Given the description of an element on the screen output the (x, y) to click on. 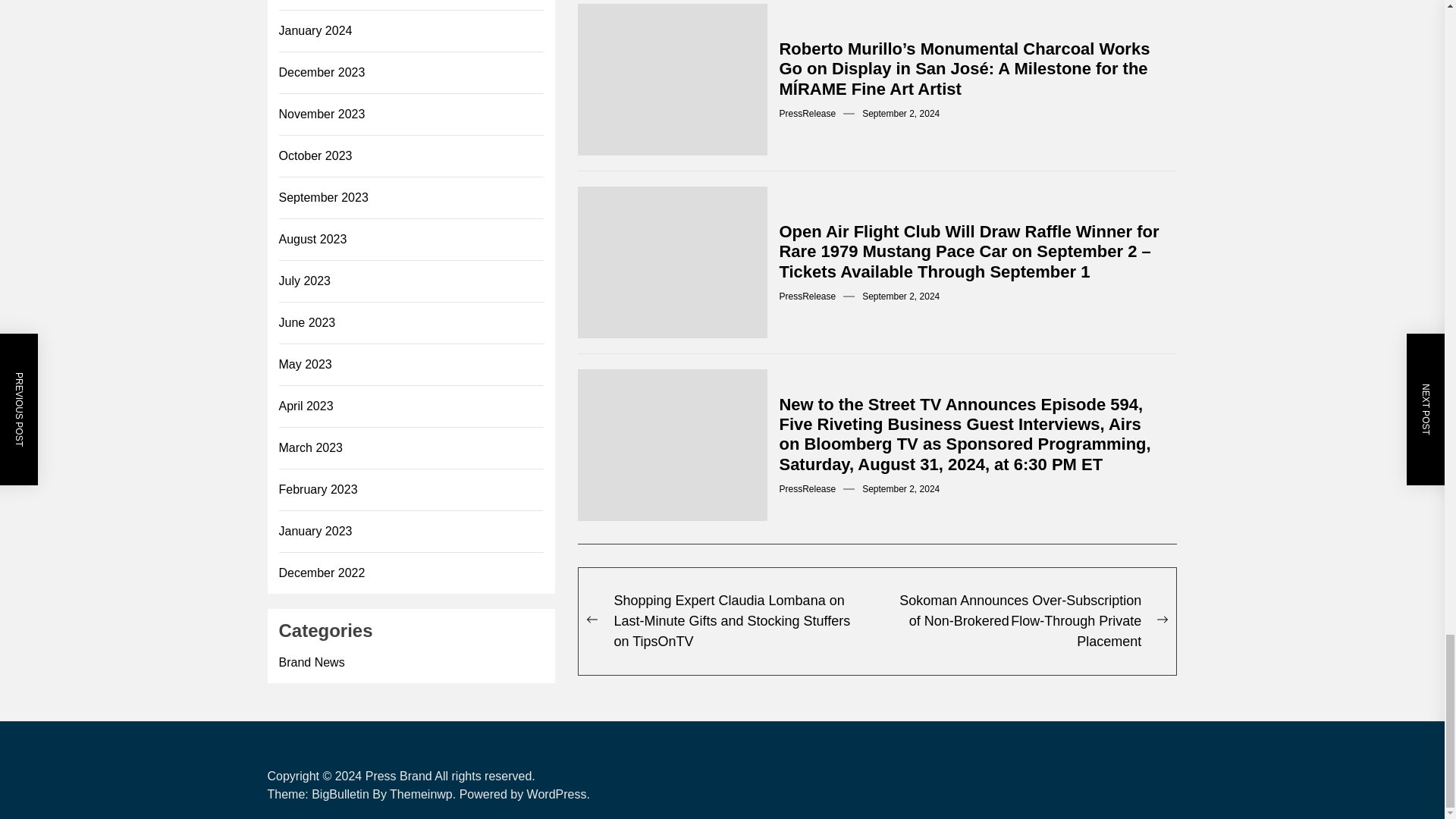
WordPress (558, 793)
Themeinwp (425, 793)
Press Brand (398, 775)
